Given the description of an element on the screen output the (x, y) to click on. 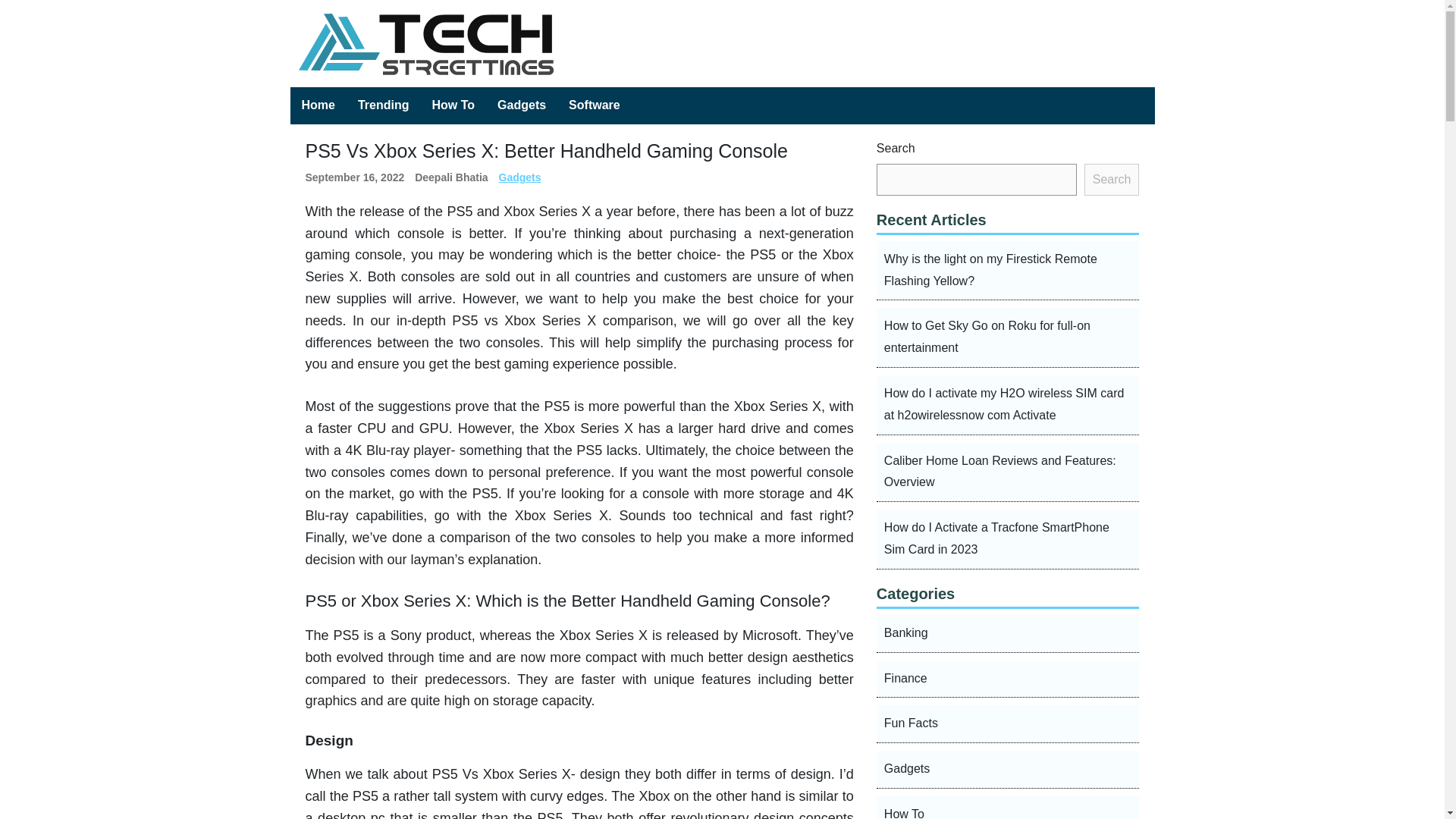
Caliber Home Loan Reviews and Features: Overview (1008, 472)
Why is the light on my Firestick Remote Flashing Yellow? (1008, 270)
Trending (383, 105)
Gadgets (521, 105)
Gadgets (520, 177)
How do I Activate a Tracfone SmartPhone Sim Card in 2023 (1008, 539)
Search (1112, 179)
Finance (1008, 679)
Banking (1008, 633)
Home (317, 105)
How To (1008, 807)
Software (594, 105)
How to Get Sky Go on Roku for full-on entertainment (1008, 337)
How To (453, 105)
